Given the description of an element on the screen output the (x, y) to click on. 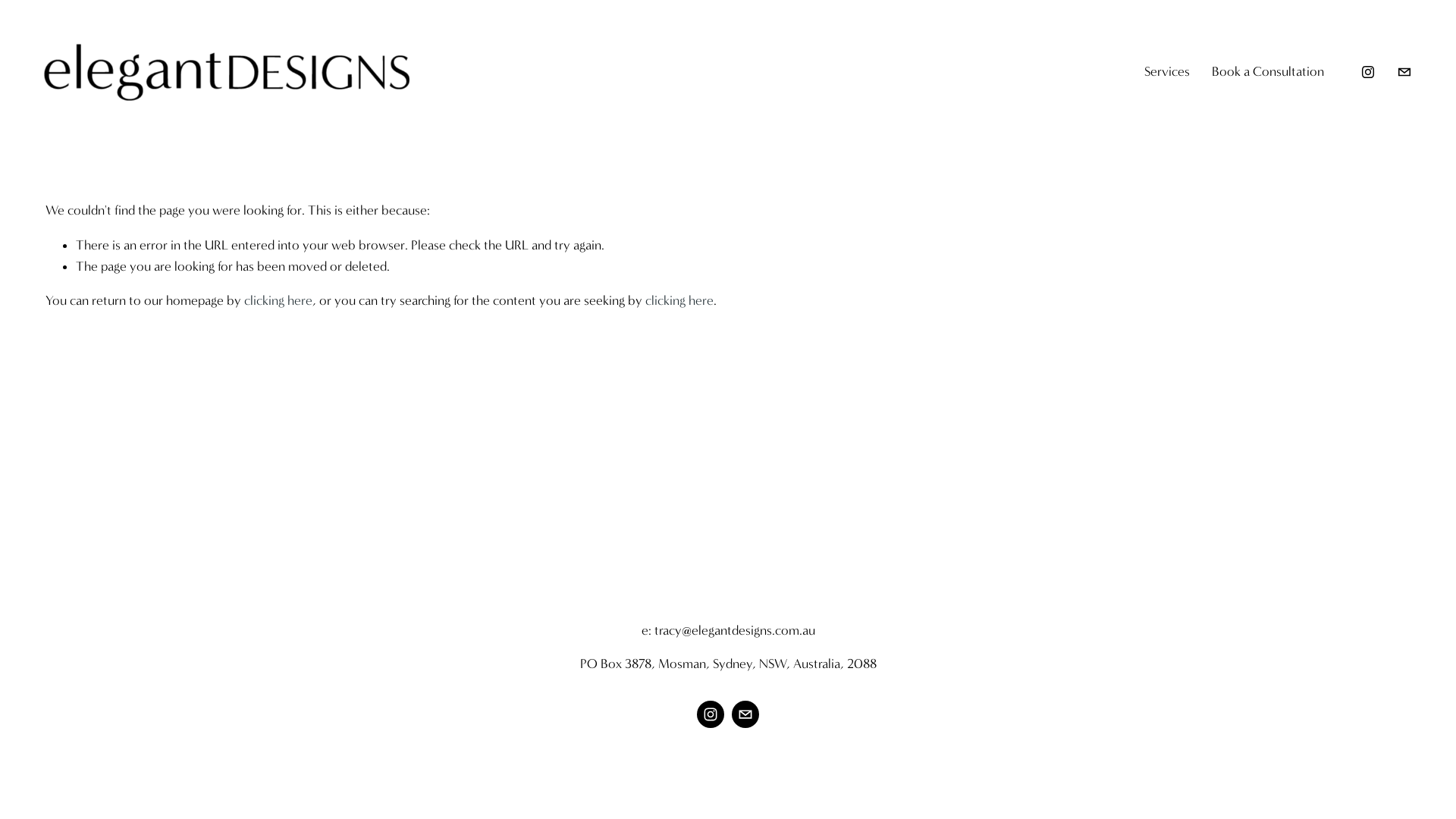
Book a Consultation Element type: text (1267, 71)
clicking here Element type: text (679, 300)
clicking here Element type: text (278, 300)
Services Element type: text (1166, 71)
